Given the description of an element on the screen output the (x, y) to click on. 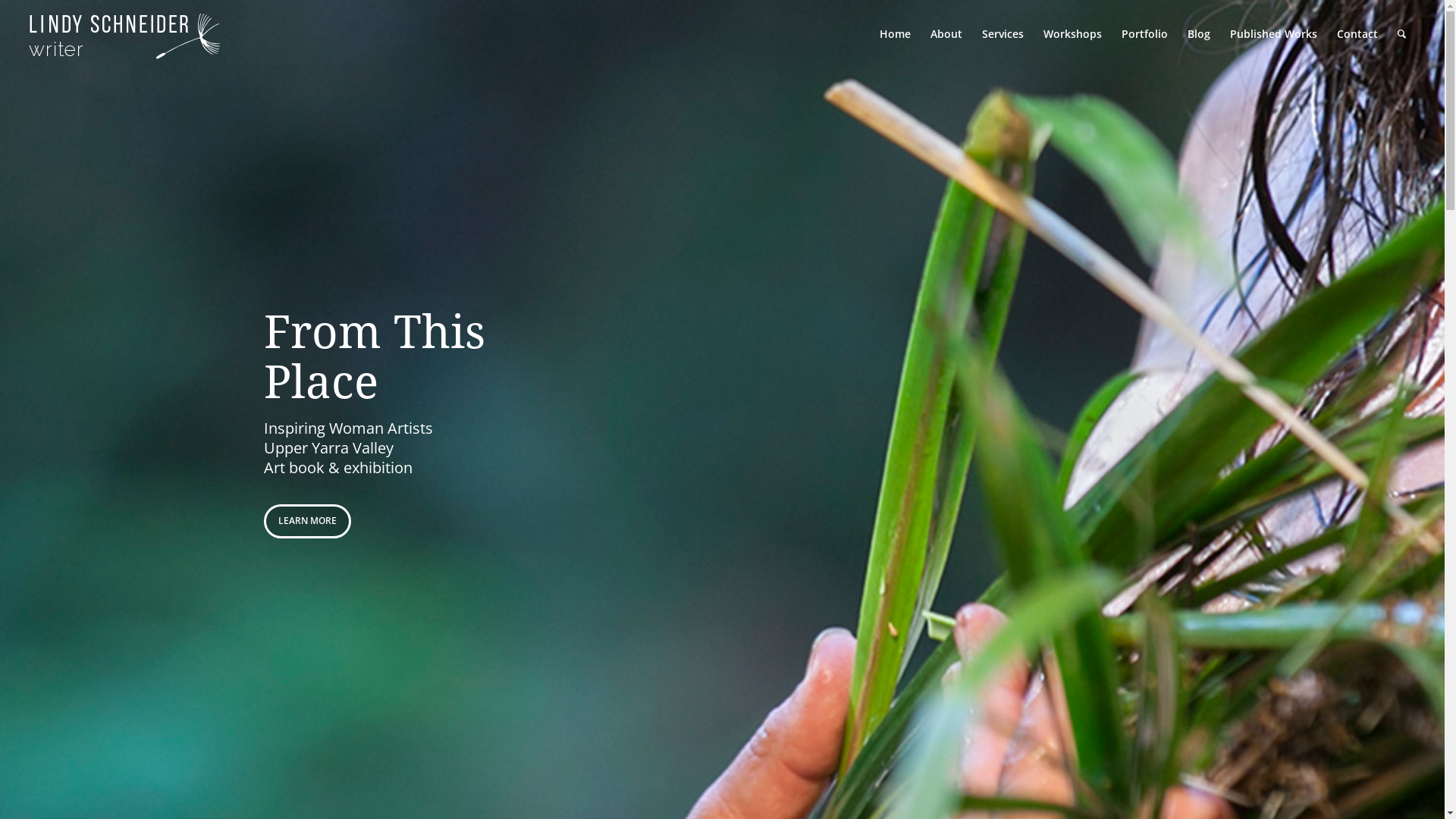
Services Element type: text (1002, 34)
About Element type: text (946, 34)
Workshops Element type: text (1072, 34)
LEARN MORE Element type: text (307, 520)
lindy-web-logo-positive Element type: hover (123, 45)
Home Element type: text (894, 34)
lindy-web-logo-negative Element type: hover (123, 35)
Portfolio Element type: text (1144, 34)
Contact Element type: text (1357, 34)
Blog Element type: text (1198, 34)
Published Works Element type: text (1273, 34)
